Given the description of an element on the screen output the (x, y) to click on. 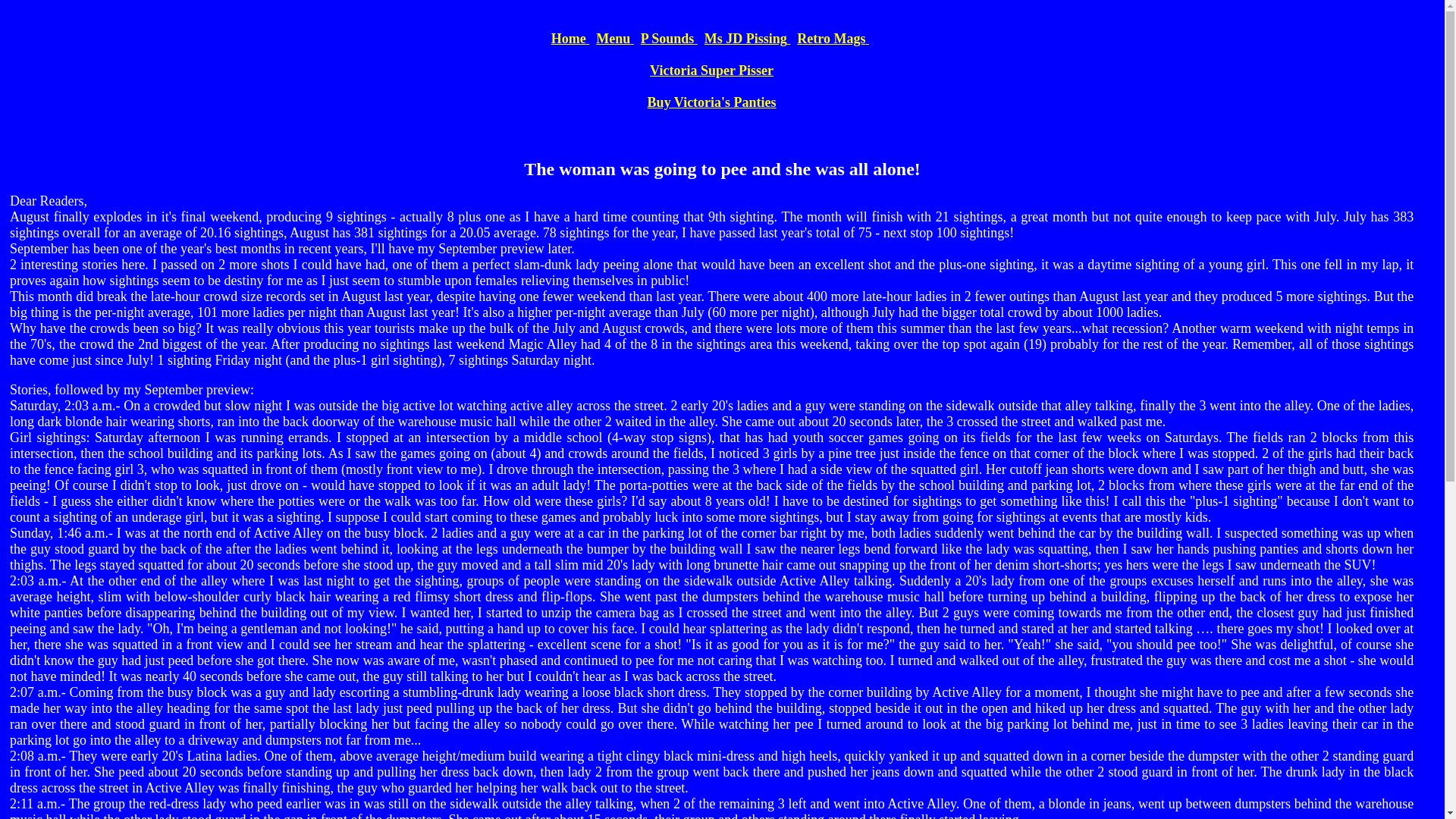
Menu (614, 38)
Home (570, 38)
Ms JD Pissing (747, 38)
Buy Victoria's Panties (711, 102)
Victoria Super Pisser (711, 70)
P Sounds (668, 38)
Retro Mags (832, 38)
